Given the description of an element on the screen output the (x, y) to click on. 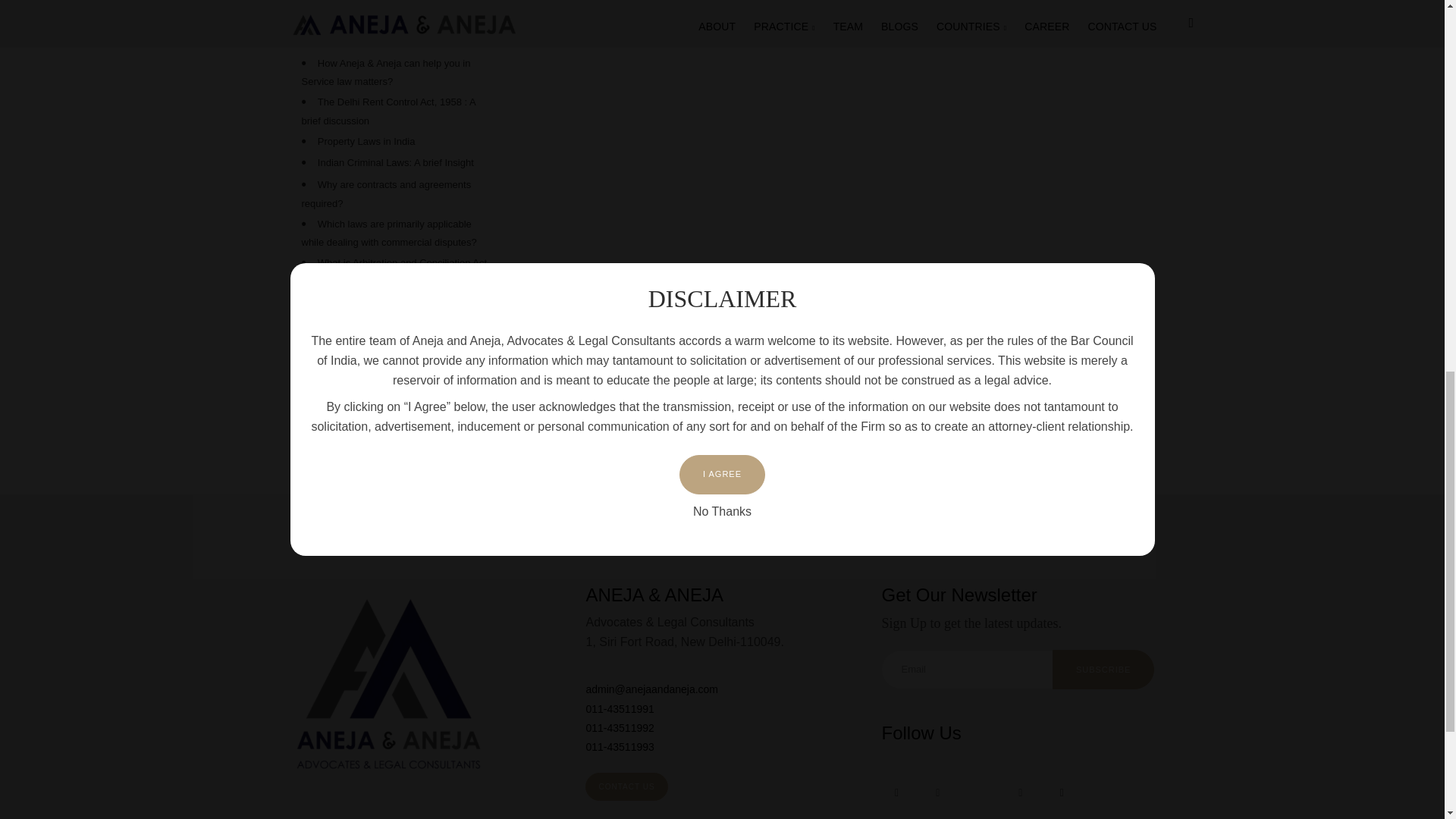
CONTACT US (625, 786)
Benefits of Copyright Registration (390, 362)
Trademark Protection in India (381, 301)
Matrimonial Disputes (363, 2)
What is Arbitration and Conciliation Act, 1996? (395, 272)
How to protect your inventions under the Indian Patent Act? (398, 333)
SUBSCRIBE (1103, 669)
Indian Criminal Laws: A brief Insight (395, 163)
Why is there a need for IP Litigation? (398, 41)
The Delhi Rent Control Act, 1958 : A brief discussion (388, 111)
Why are contracts and agreements required? (386, 194)
Property Laws in India (365, 141)
